Given the description of an element on the screen output the (x, y) to click on. 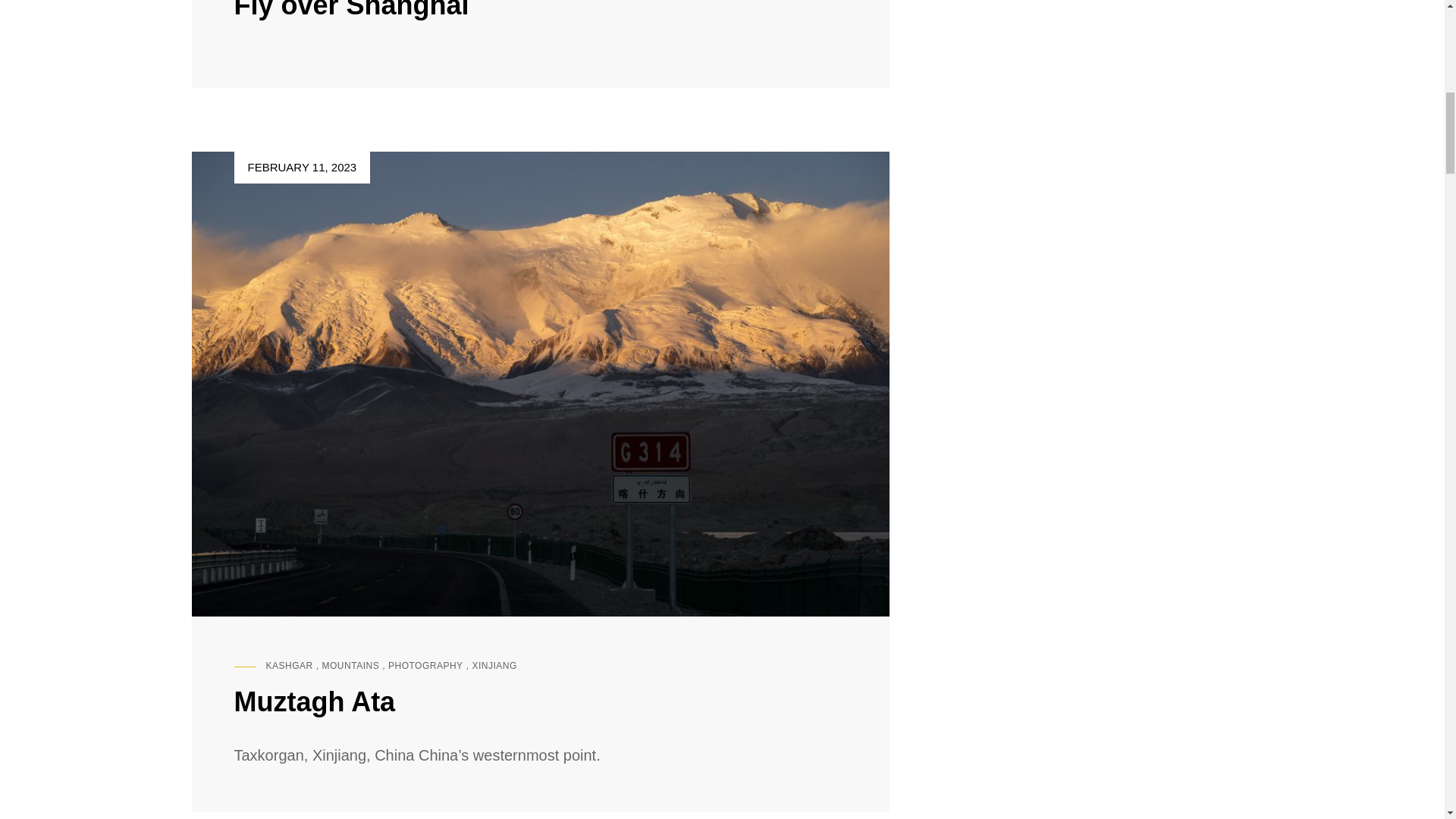
KASHGAR (288, 666)
FEBRUARY 11, 2023 (300, 167)
Fly over Shanghai (350, 10)
